Given the description of an element on the screen output the (x, y) to click on. 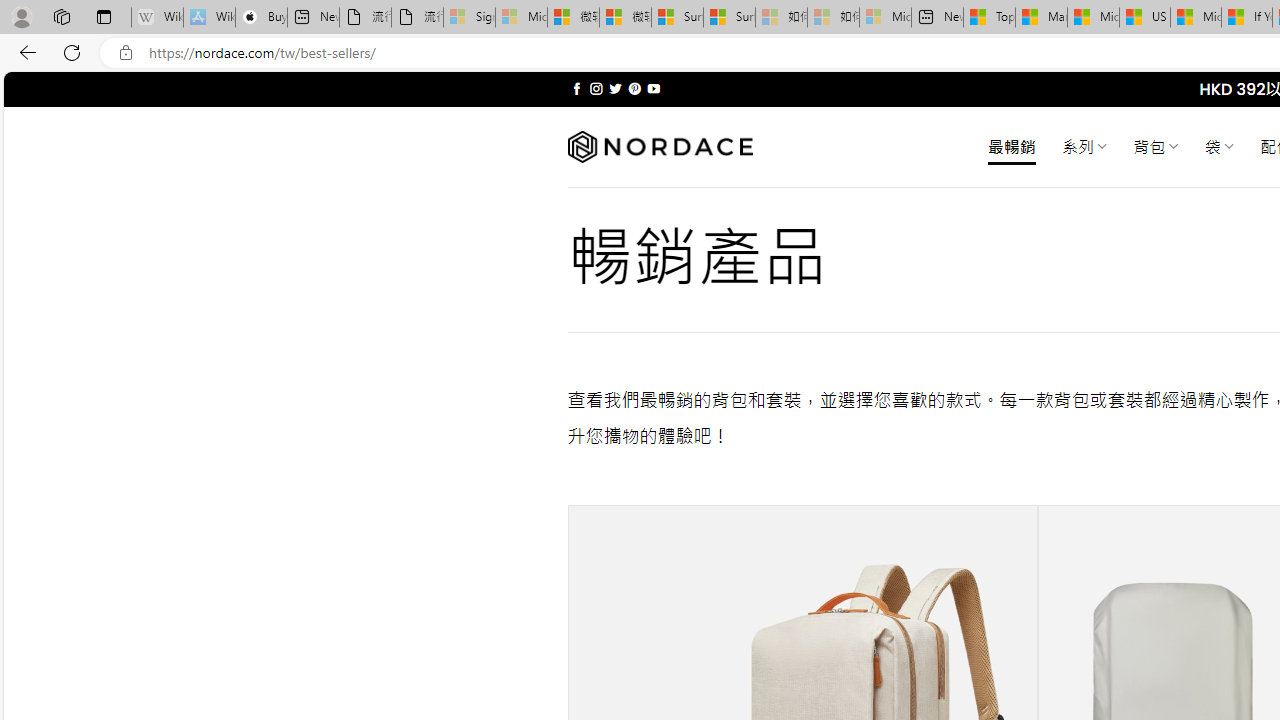
View site information (125, 53)
Workspaces (61, 16)
Wikipedia - Sleeping (157, 17)
Buy iPad - Apple (260, 17)
